Given the description of an element on the screen output the (x, y) to click on. 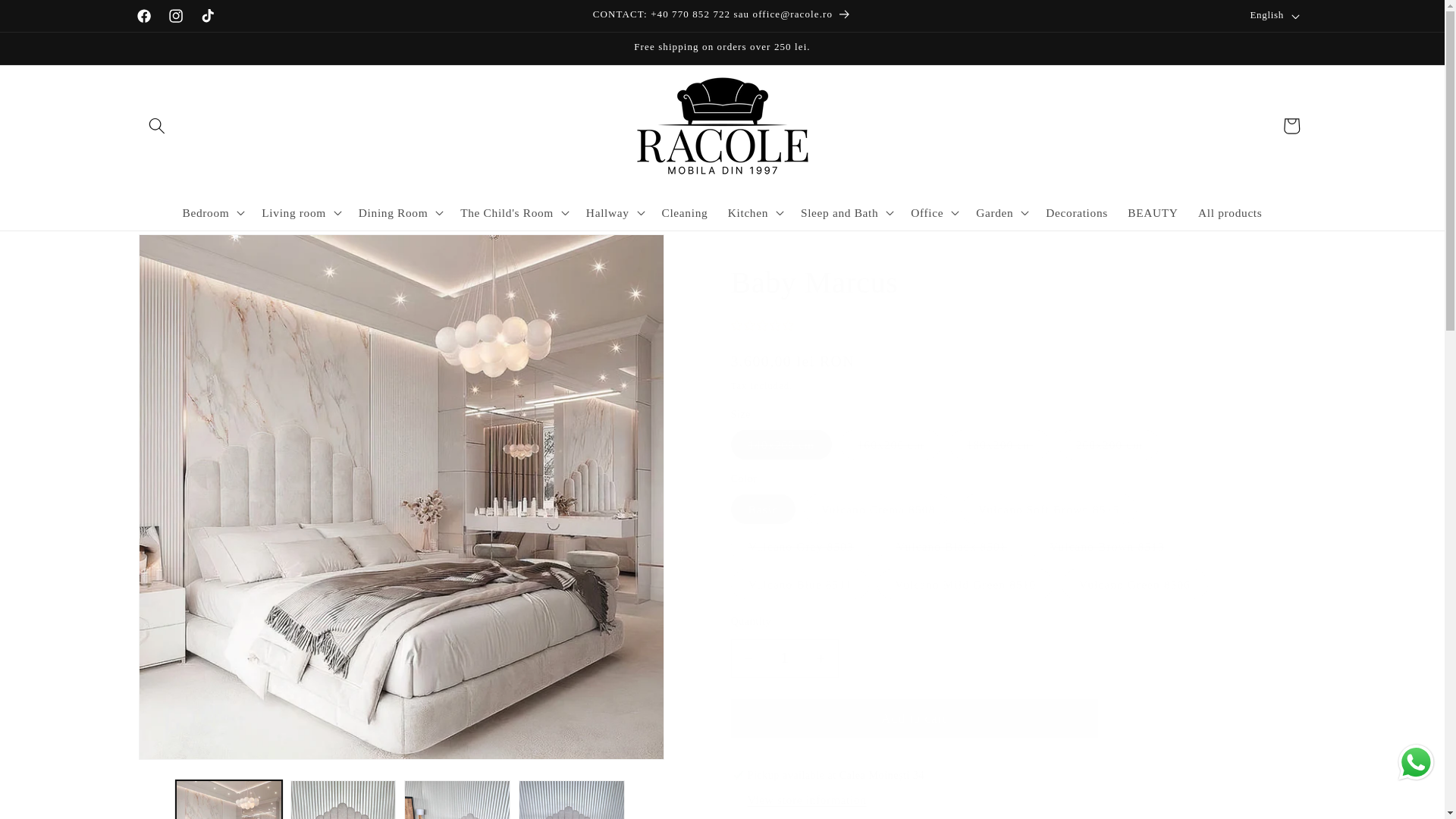
TikTok (208, 15)
Instagram (176, 15)
Skip to content (50, 19)
Facebook (144, 15)
